Given the description of an element on the screen output the (x, y) to click on. 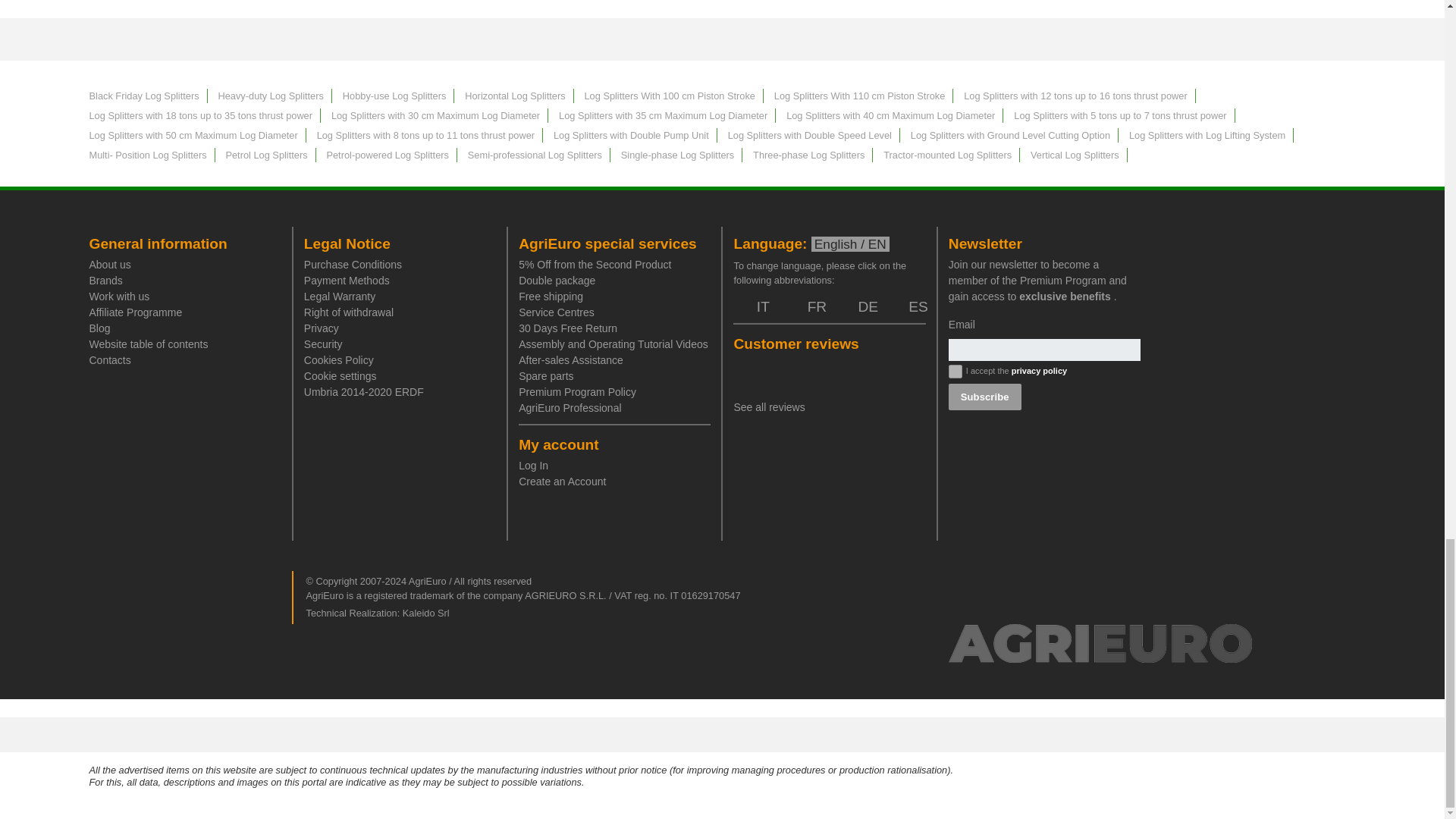
Log Splitters With 100 cm Piston Stroke (668, 95)
Heavy-duty Log Splitters (269, 95)
Petrol Log Splitters (266, 154)
Log Splitters with 12 tons up to 16 tons thrust power (1075, 95)
Log Splitters With 110 cm Piston Stroke (859, 95)
Multi- Position Log Splitters (147, 154)
Log Splitters with Double Pump Unit (631, 134)
Subscribe (985, 397)
Log Splitters with Ground Level Cutting Option (1010, 134)
Maestro (935, 734)
